Given the description of an element on the screen output the (x, y) to click on. 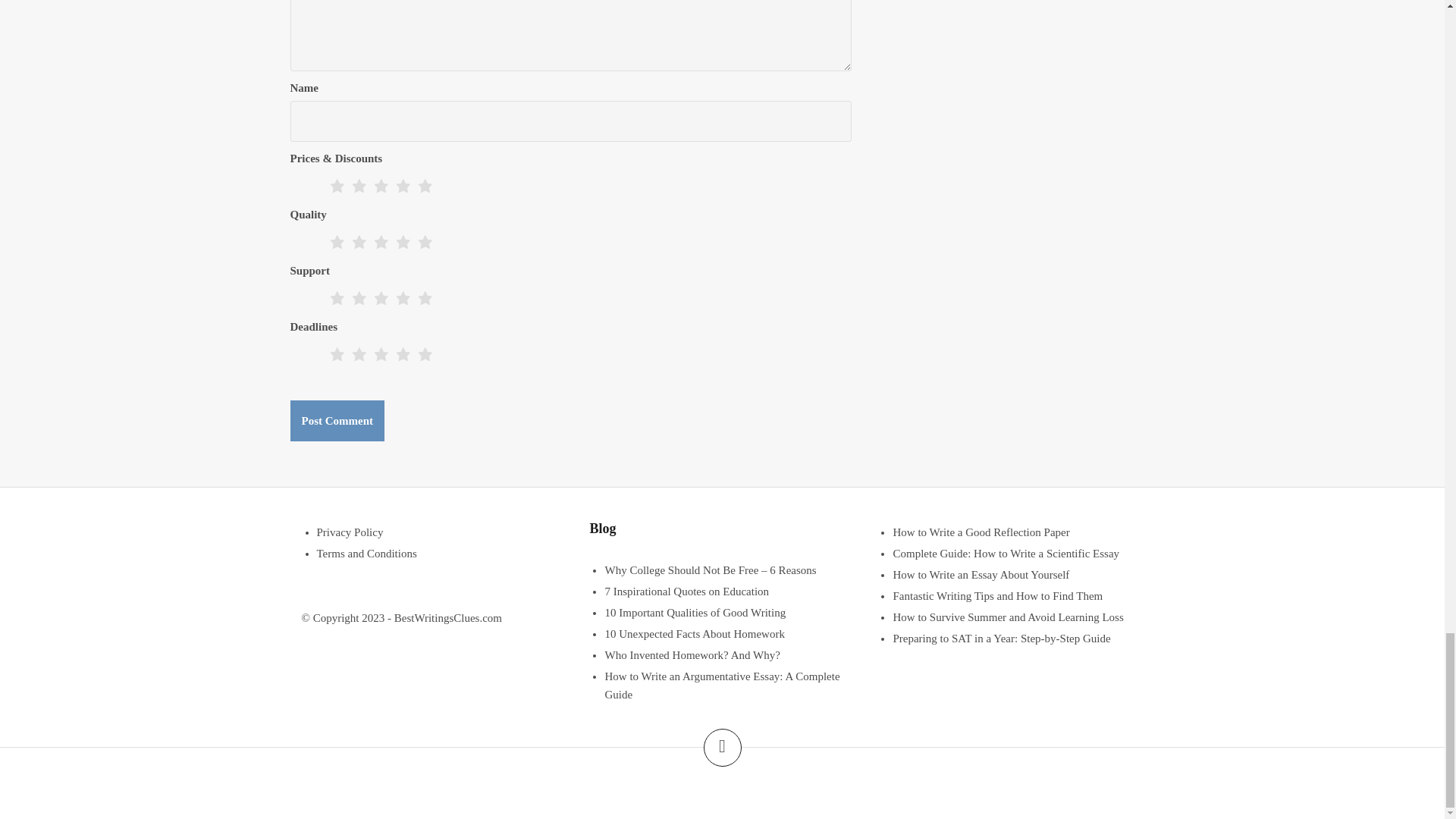
Post Comment (336, 420)
Post Comment (336, 420)
DMCA.com Protection Status (722, 785)
